Given the description of an element on the screen output the (x, y) to click on. 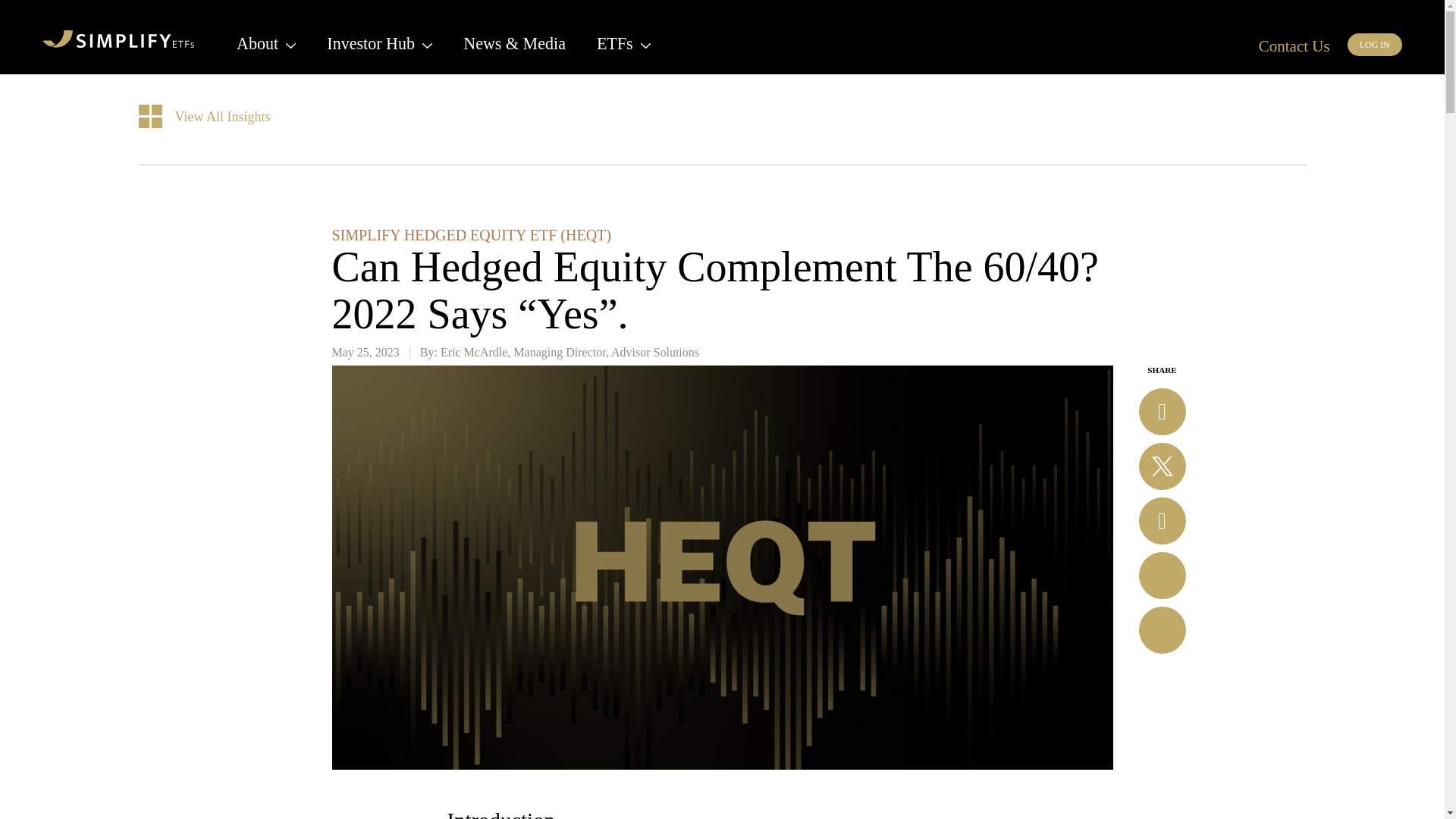
LOG IN (1375, 44)
Contact Us (1294, 45)
ETFs (614, 43)
email (1162, 575)
View All Insights (203, 115)
Investor Hub (370, 43)
print (1162, 629)
About (256, 43)
